Given the description of an element on the screen output the (x, y) to click on. 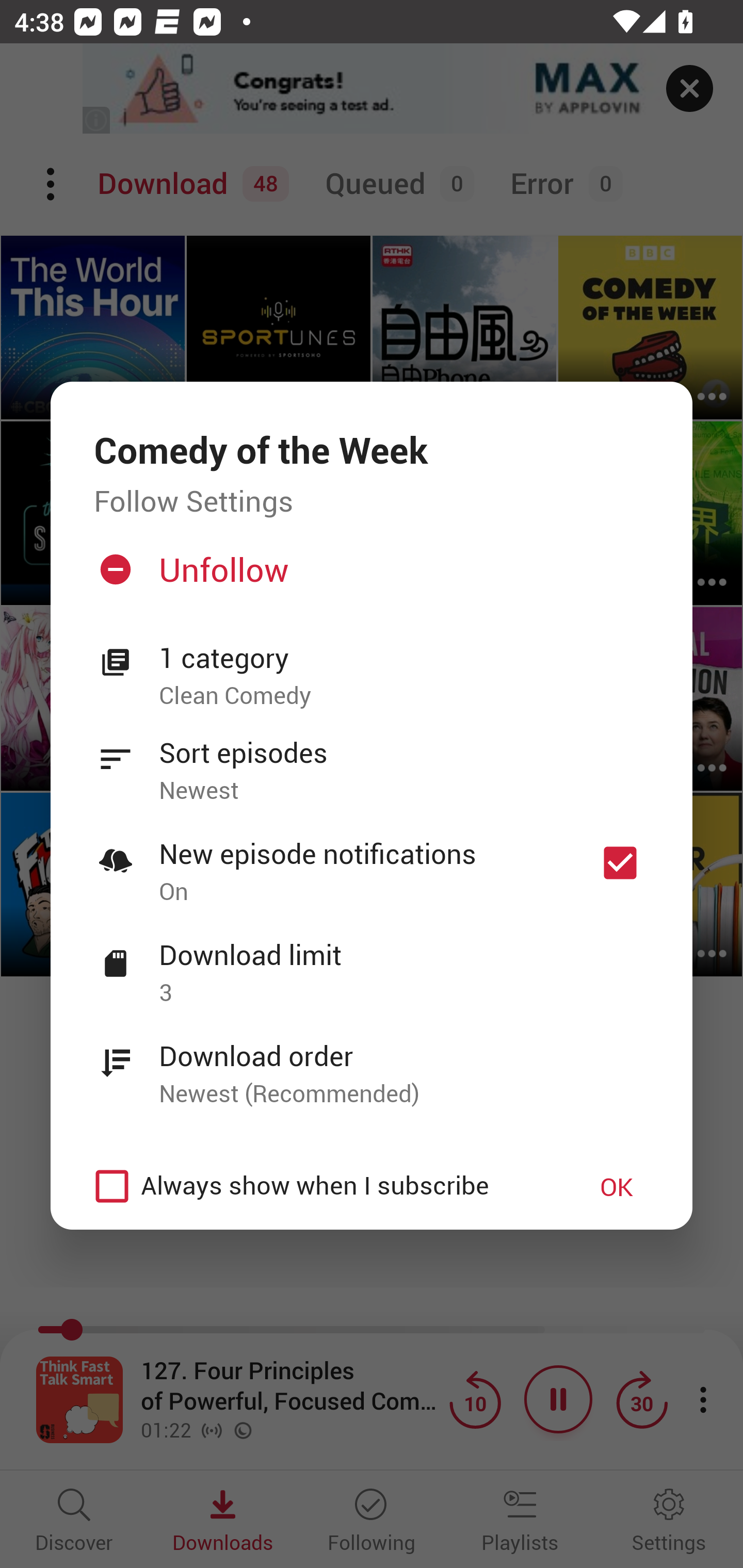
Unfollow (369, 576)
1 category (404, 658)
Clean Comedy (404, 696)
Sort episodes Newest (371, 760)
New episode notifications (620, 863)
Download limit 3 (371, 962)
Download order Newest (Recommended) (371, 1063)
OK (616, 1186)
Always show when I subscribe (320, 1186)
